Given the description of an element on the screen output the (x, y) to click on. 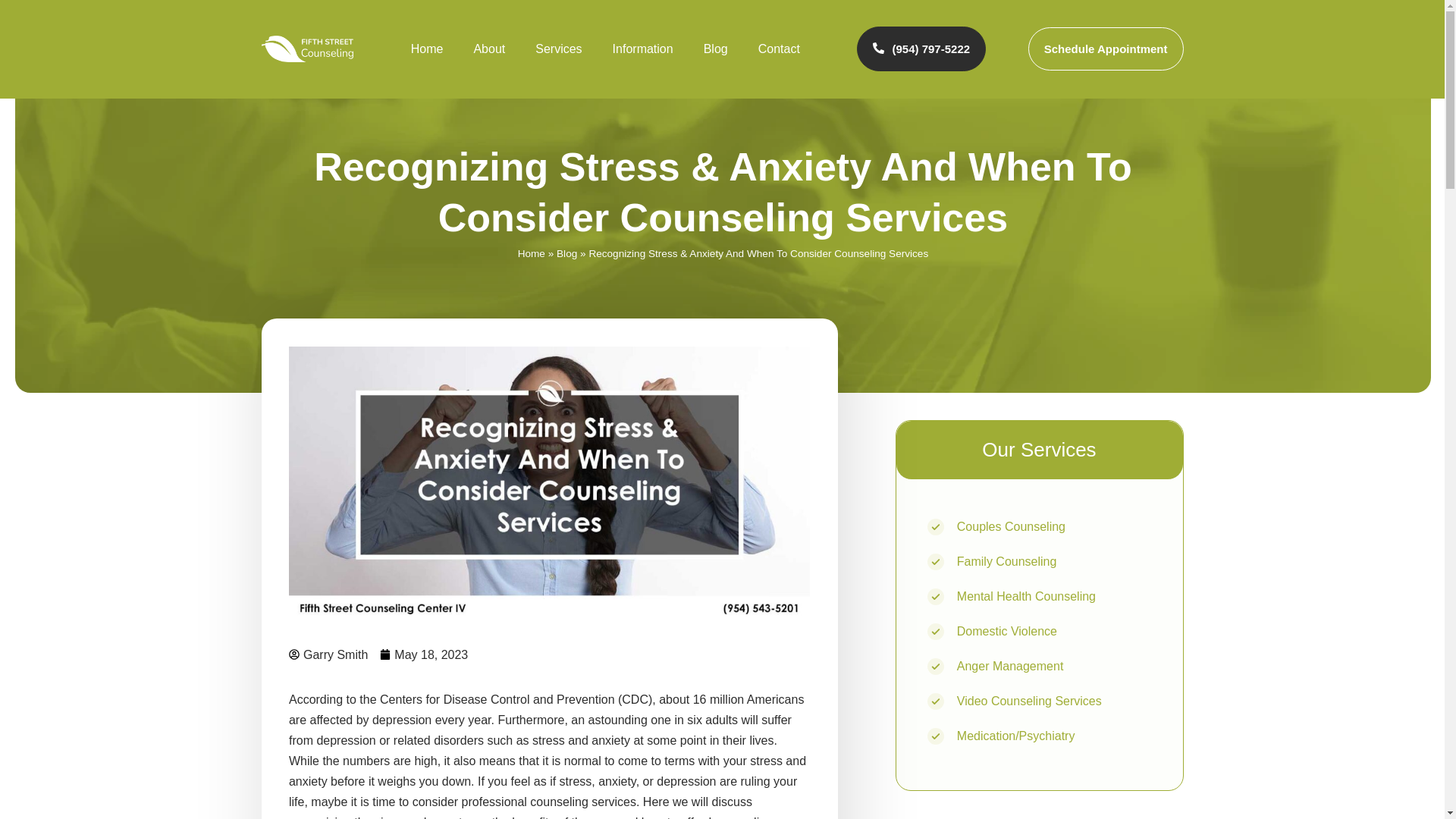
Home (427, 48)
Blog (715, 48)
Information (642, 48)
Contact (778, 48)
About (488, 48)
Services (557, 48)
